Given the description of an element on the screen output the (x, y) to click on. 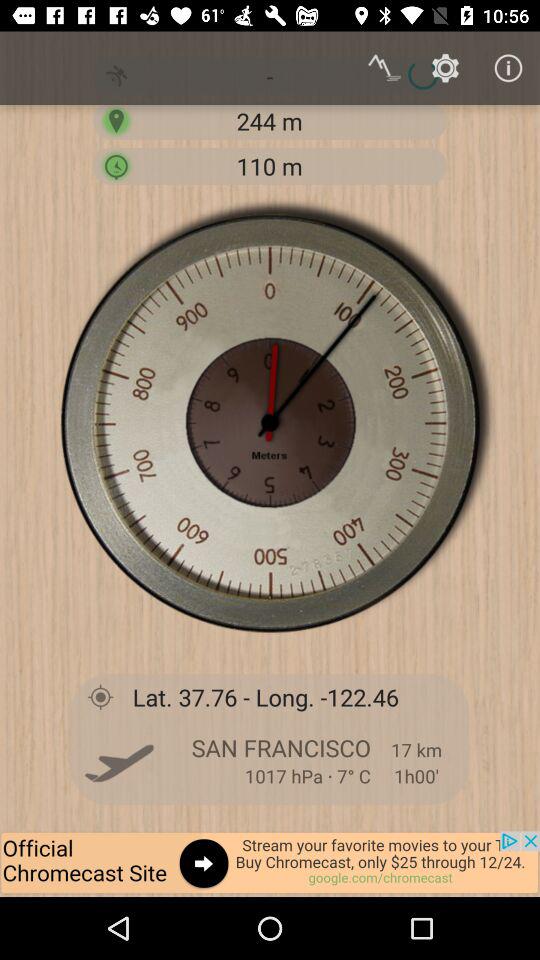
go to cubic meter (115, 165)
click the info option (508, 68)
go to longitude and latitude symbol (101, 696)
the label shown below 110 m (269, 421)
select the time frame image (269, 421)
the icon shown below location icon at the bottom of the page (118, 760)
